Given the description of an element on the screen output the (x, y) to click on. 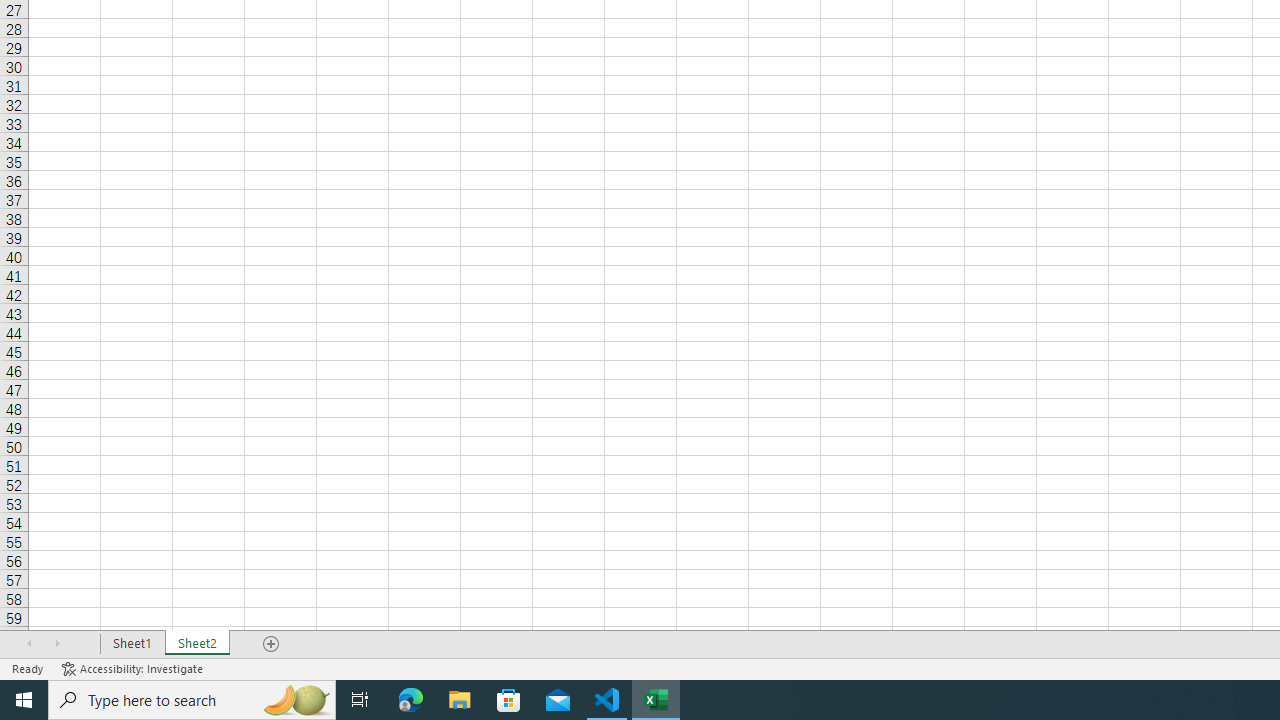
Accessibility Checker Accessibility: Investigate (134, 668)
Sheet2 (197, 644)
